Given the description of an element on the screen output the (x, y) to click on. 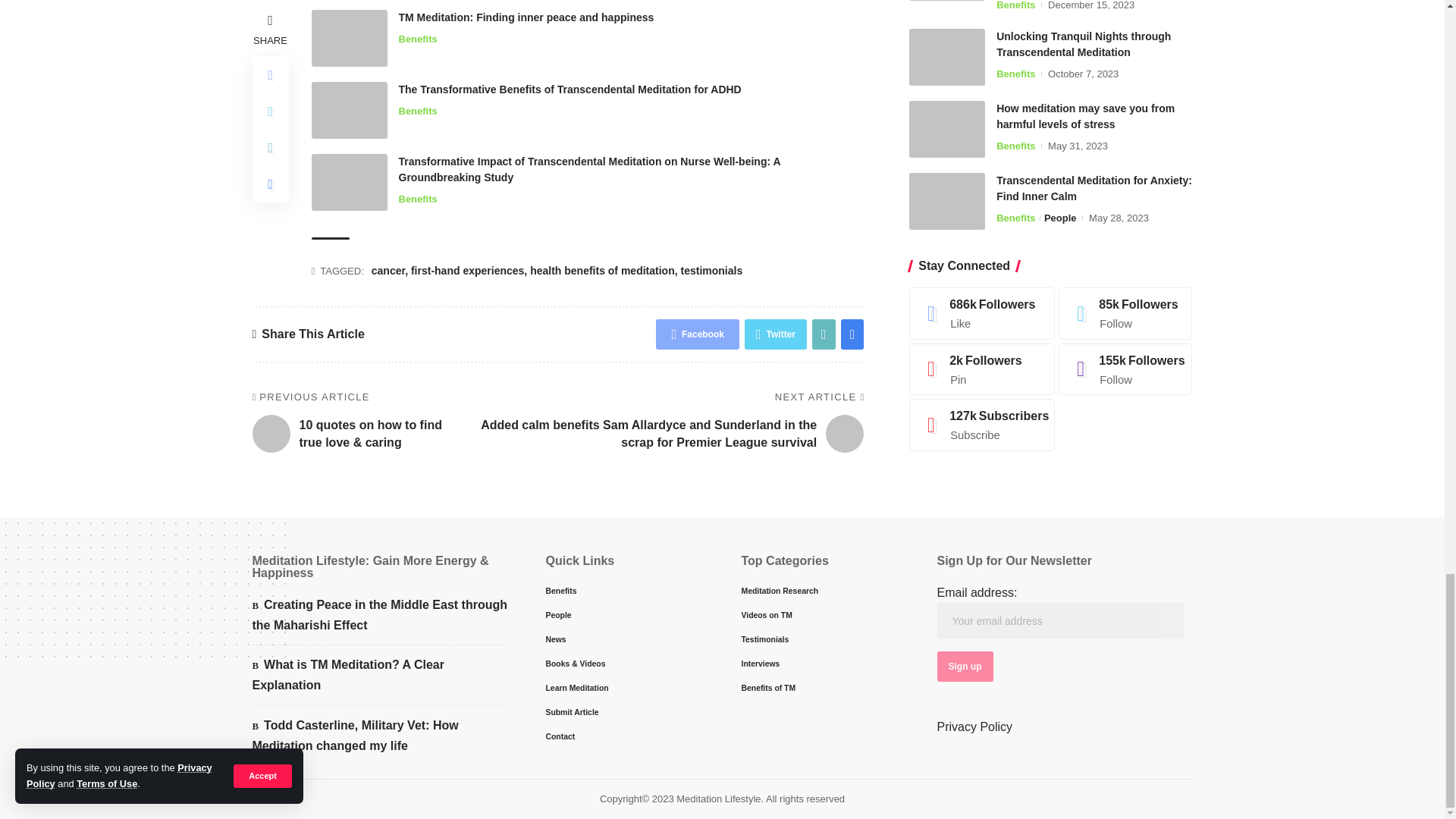
TM Meditation: Finding inner peace and happiness (349, 37)
Sign up (964, 666)
